Given the description of an element on the screen output the (x, y) to click on. 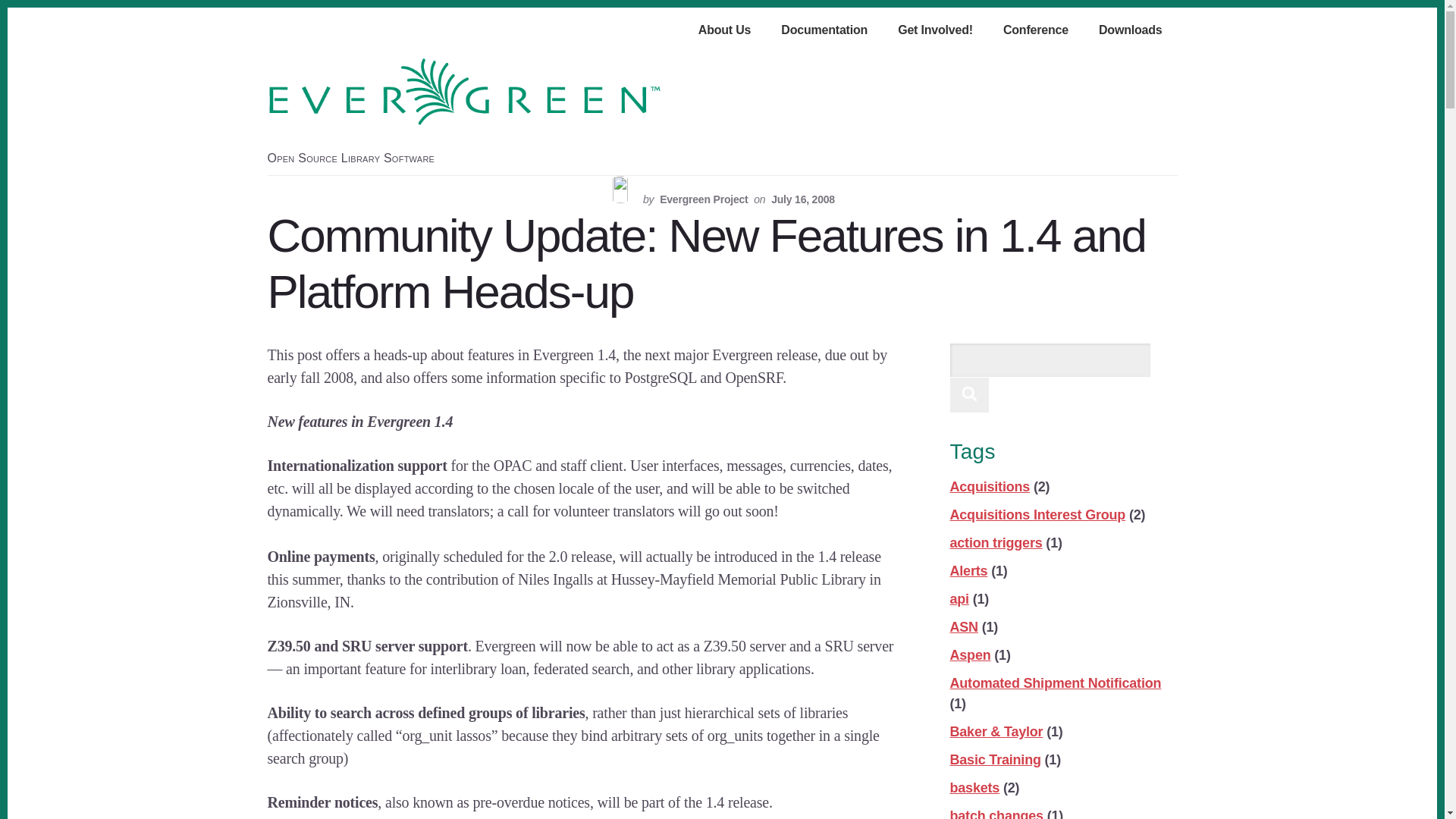
About Us (724, 31)
Get Involved! (935, 31)
Documentation (823, 31)
Conference (1035, 31)
